Given the description of an element on the screen output the (x, y) to click on. 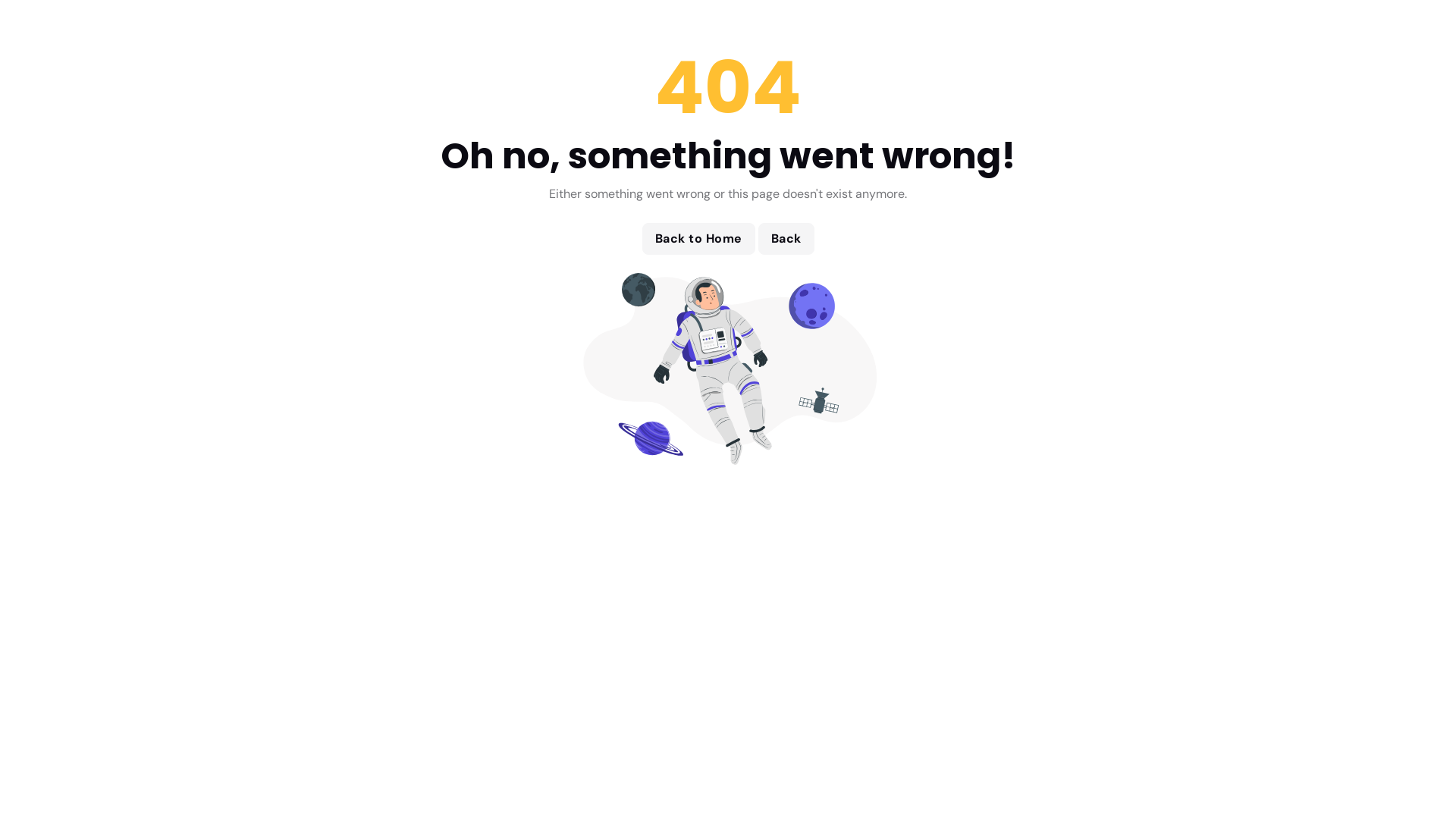
Back Element type: text (786, 238)
Back to Home Element type: text (697, 238)
